Given the description of an element on the screen output the (x, y) to click on. 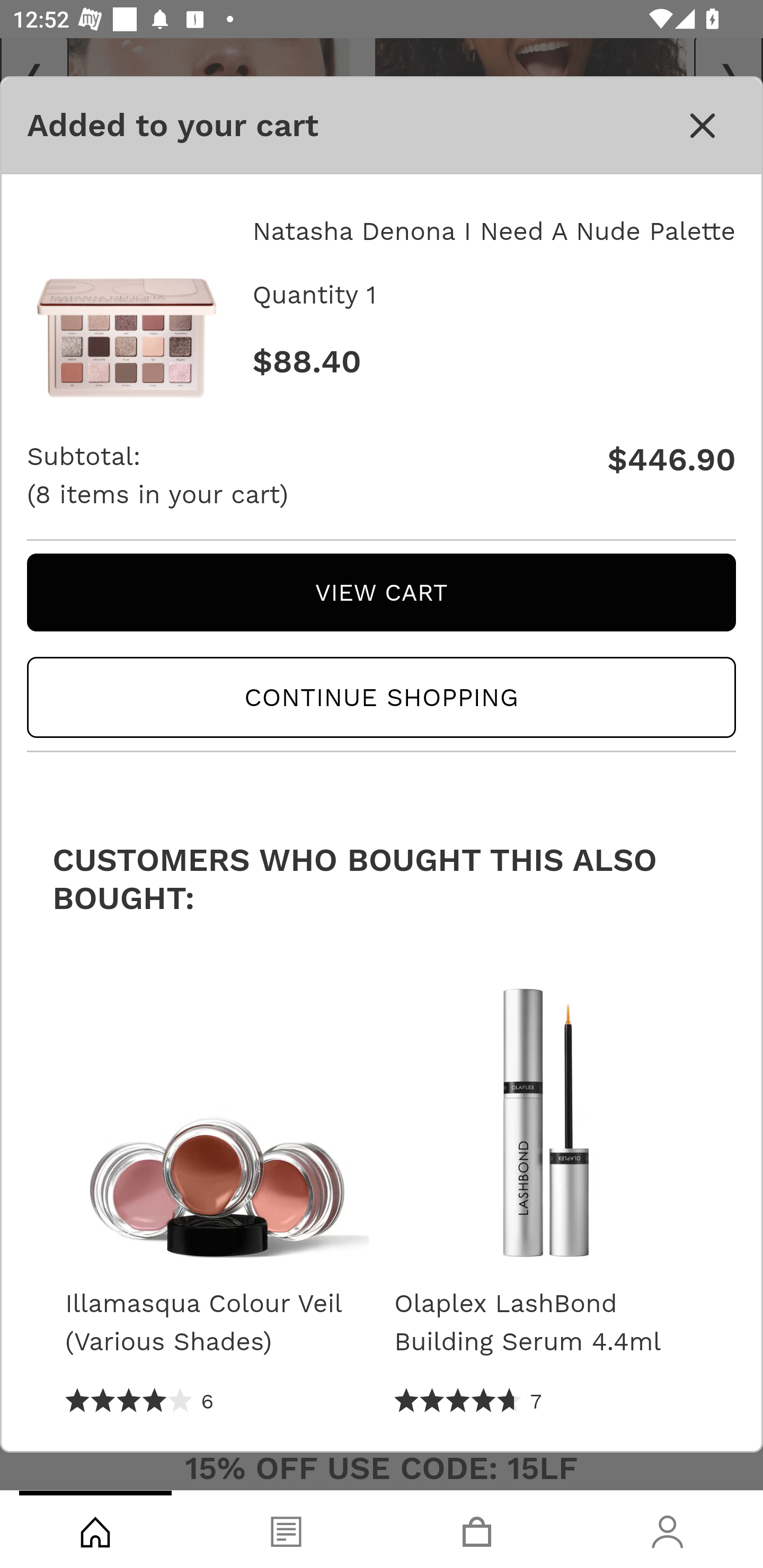
Close (702, 124)
Natasha Denona I Need A Nude Palette (126, 299)
Natasha Denona I Need A Nude Palette (493, 231)
VIEW CART (381, 592)
CONTINUE SHOPPING (381, 697)
Illamasqua Colour Veil (Various Shades) (216, 1113)
Olaplex LashBond Building Serum 4.4ml (546, 1113)
Illamasqua Colour Veil (Various Shades) (216, 1323)
Olaplex LashBond Building Serum 4.4ml (546, 1323)
Shop, tab, 1 of 4 (95, 1529)
Blog, tab, 2 of 4 (285, 1529)
Basket, tab, 3 of 4 (476, 1529)
Account, tab, 4 of 4 (667, 1529)
